Given the description of an element on the screen output the (x, y) to click on. 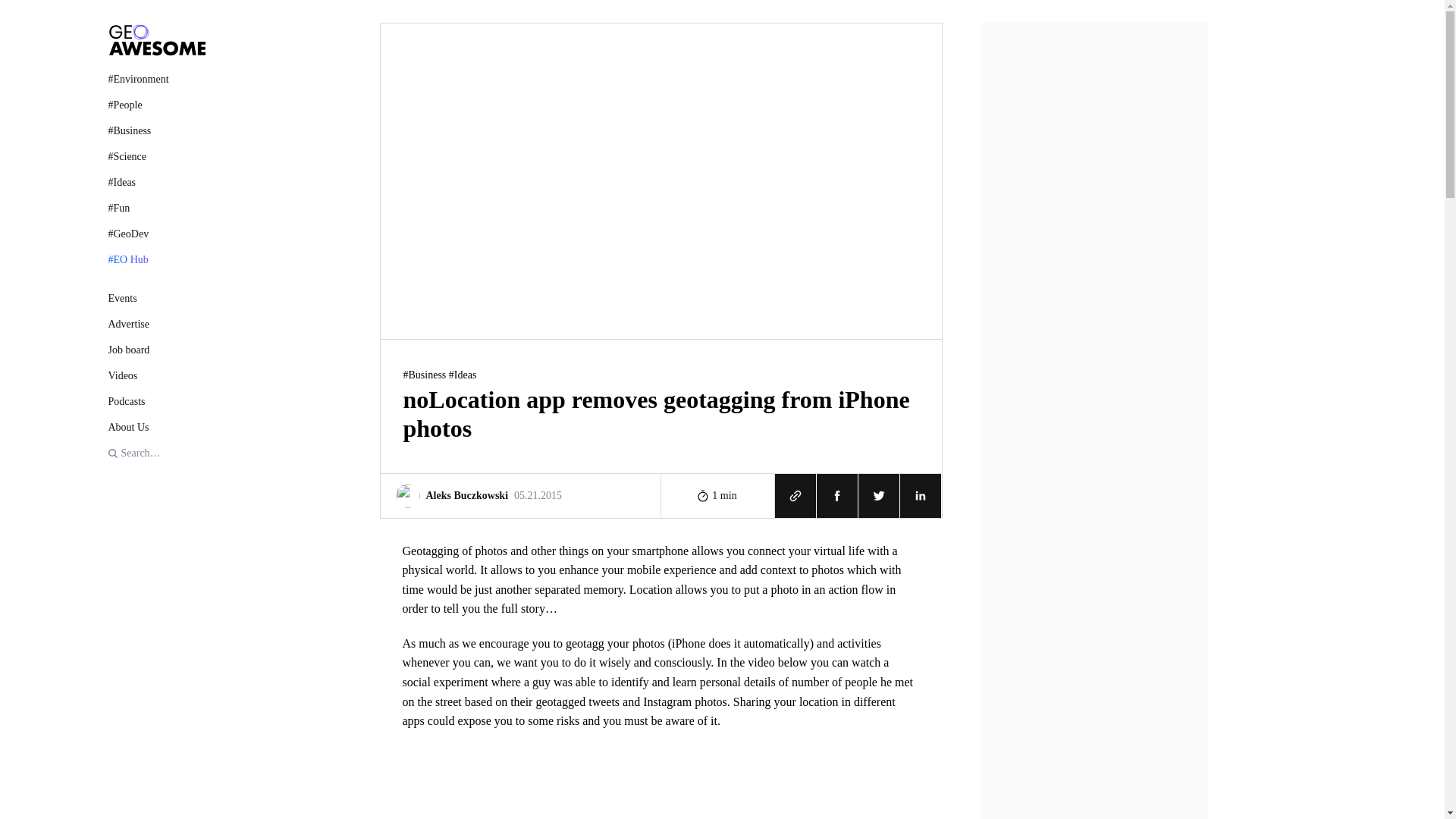
1 min (717, 494)
Job board (156, 349)
Videos (156, 375)
Advertise (156, 324)
Events (156, 298)
Podcasts (156, 401)
About Us (520, 494)
